Given the description of an element on the screen output the (x, y) to click on. 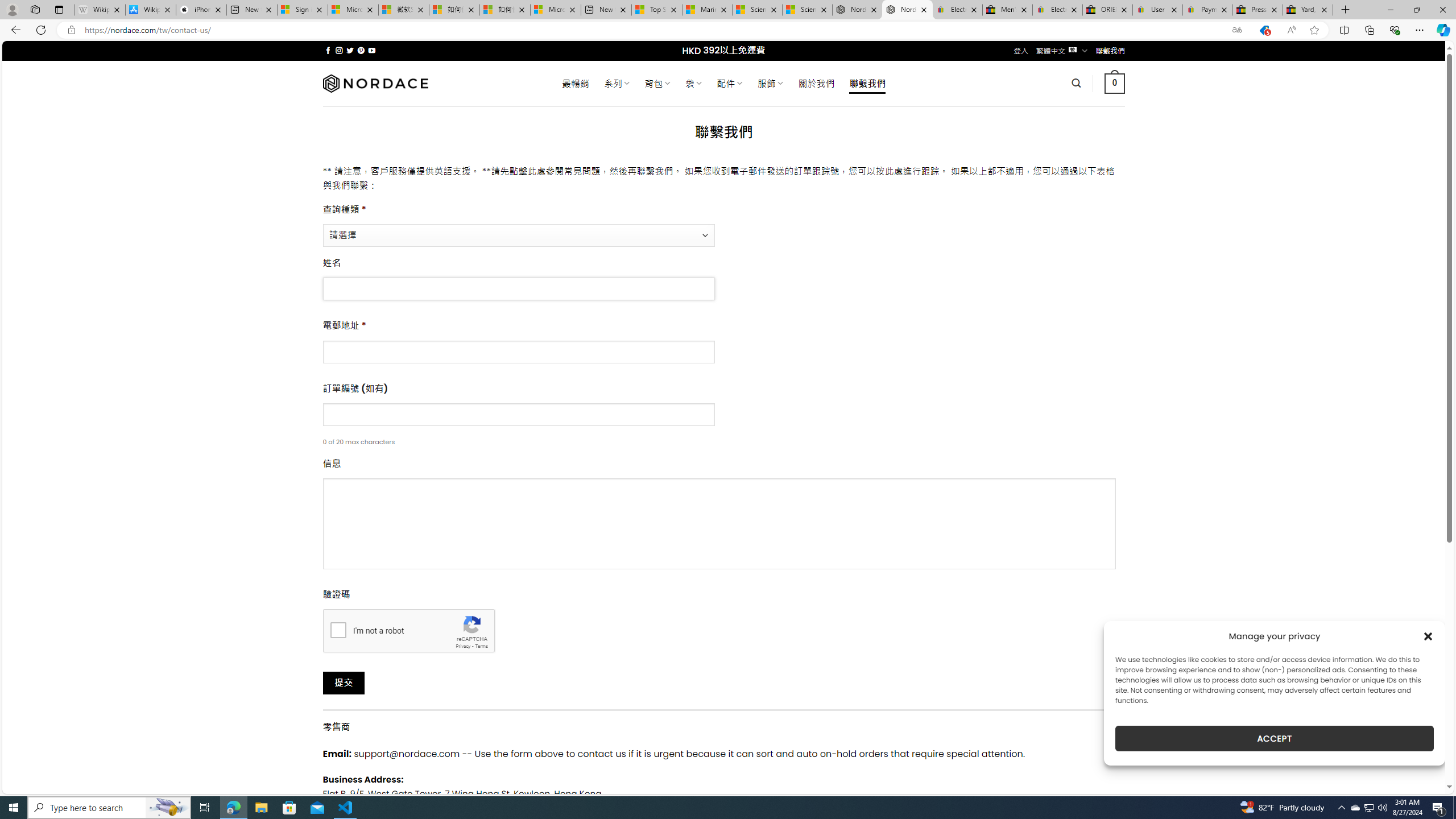
Nordace (374, 83)
  0   (1115, 83)
Class: cmplz-close (1428, 636)
